Given the description of an element on the screen output the (x, y) to click on. 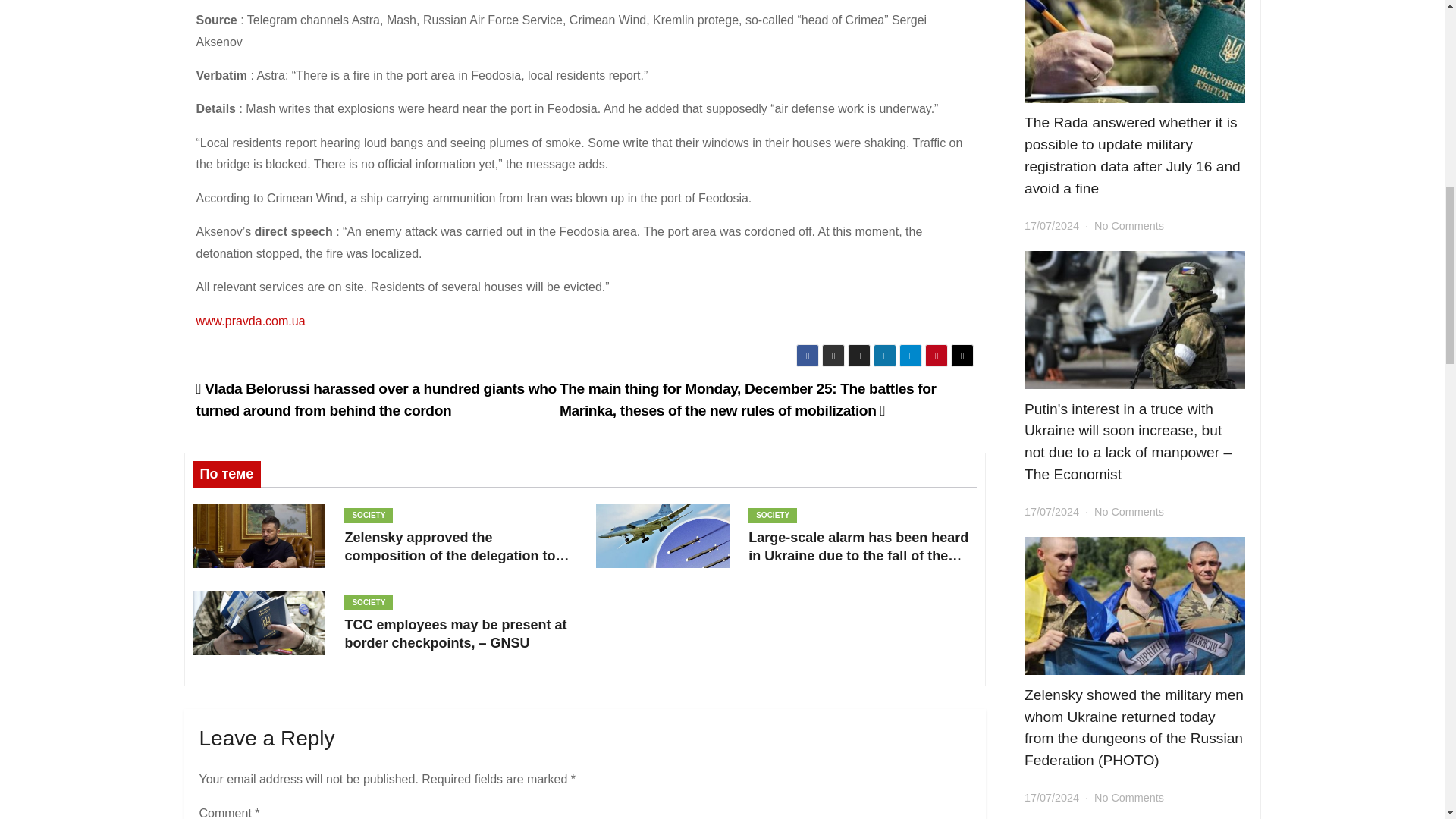
www.pravda.com.ua (249, 320)
